Given the description of an element on the screen output the (x, y) to click on. 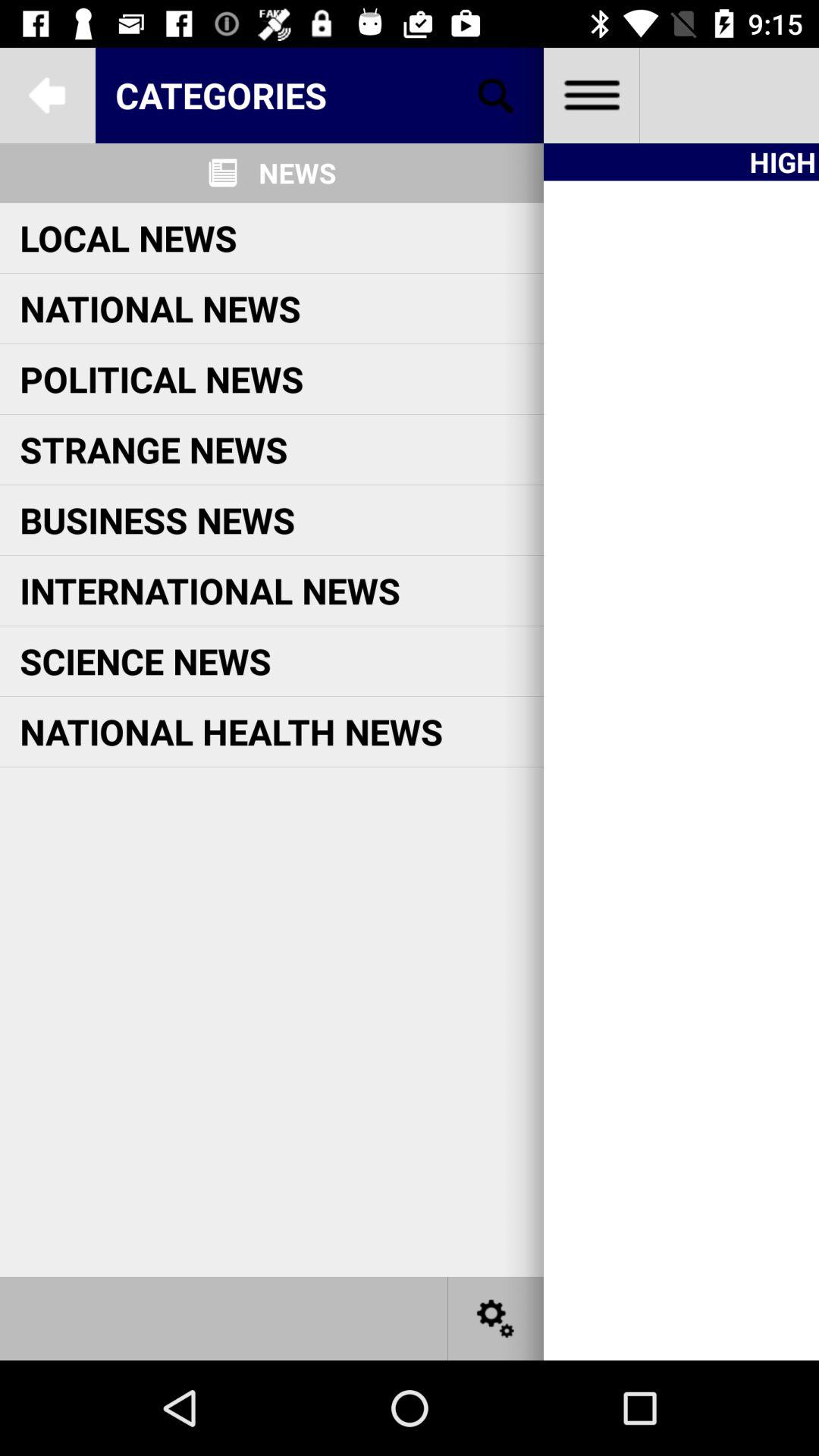
settings (495, 1318)
